Given the description of an element on the screen output the (x, y) to click on. 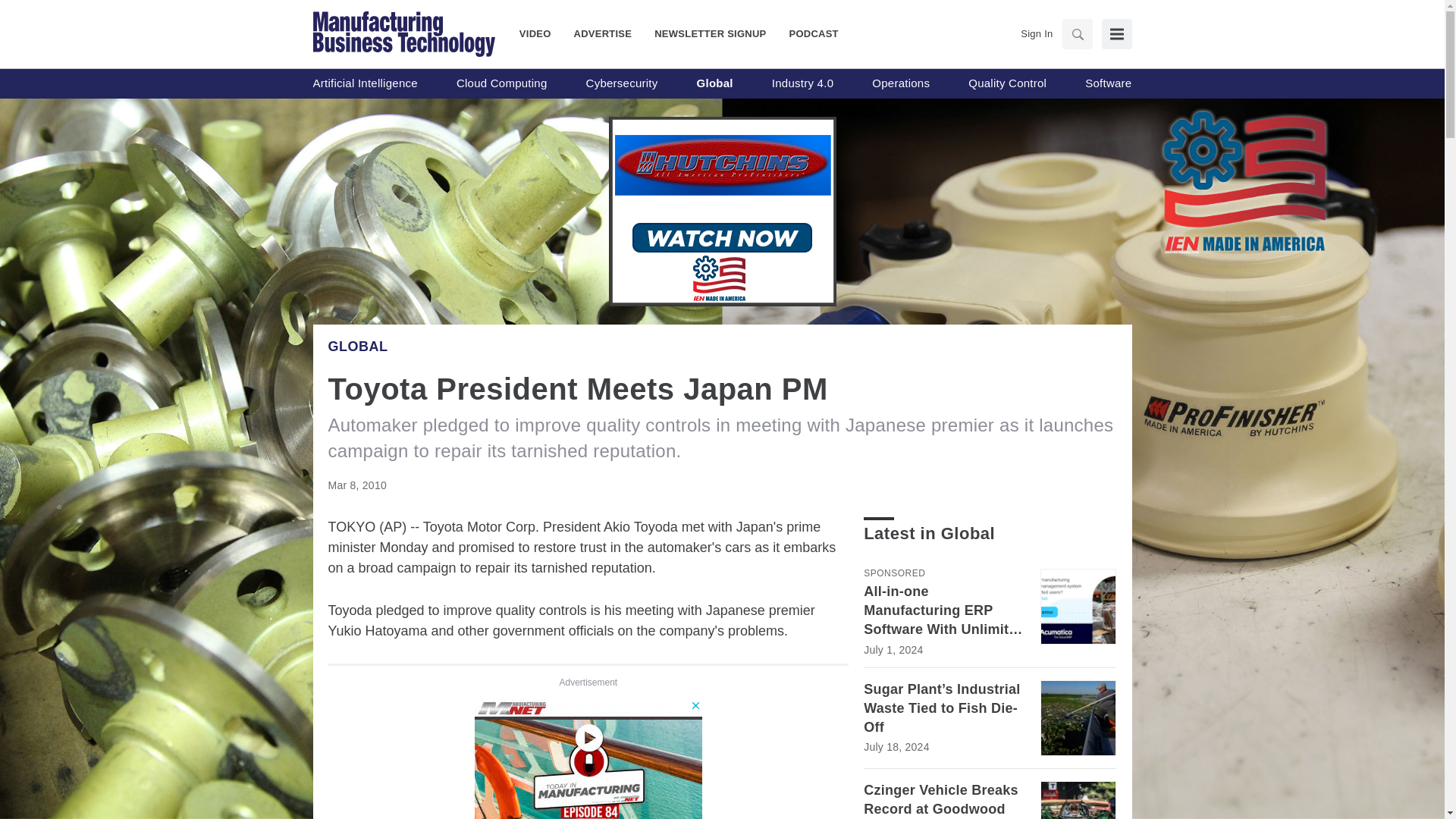
Quality Control (1007, 83)
Software (1107, 83)
VIDEO (540, 33)
Operations (901, 83)
ADVERTISE (602, 33)
Industry 4.0 (801, 83)
Global (715, 83)
PODCAST (807, 33)
Sign In (1036, 33)
NEWSLETTER SIGNUP (710, 33)
Sponsored (893, 573)
3rd party ad content (587, 759)
Cloud Computing (502, 83)
Cybersecurity (622, 83)
